Given the description of an element on the screen output the (x, y) to click on. 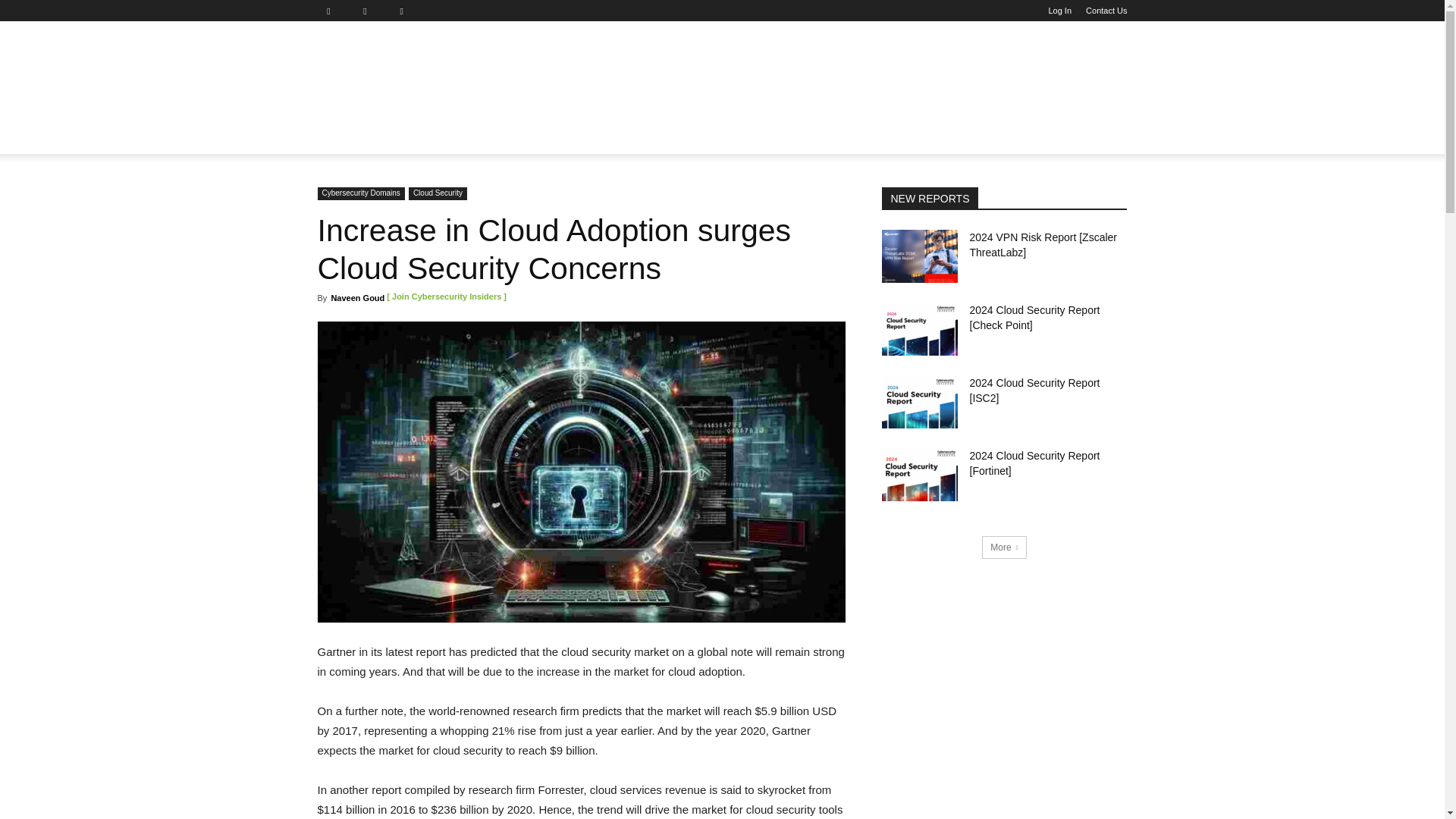
Contact Us (1106, 10)
Linkedin (370, 10)
NEWS (343, 135)
Facebook (333, 10)
Log In (1059, 10)
